Given the description of an element on the screen output the (x, y) to click on. 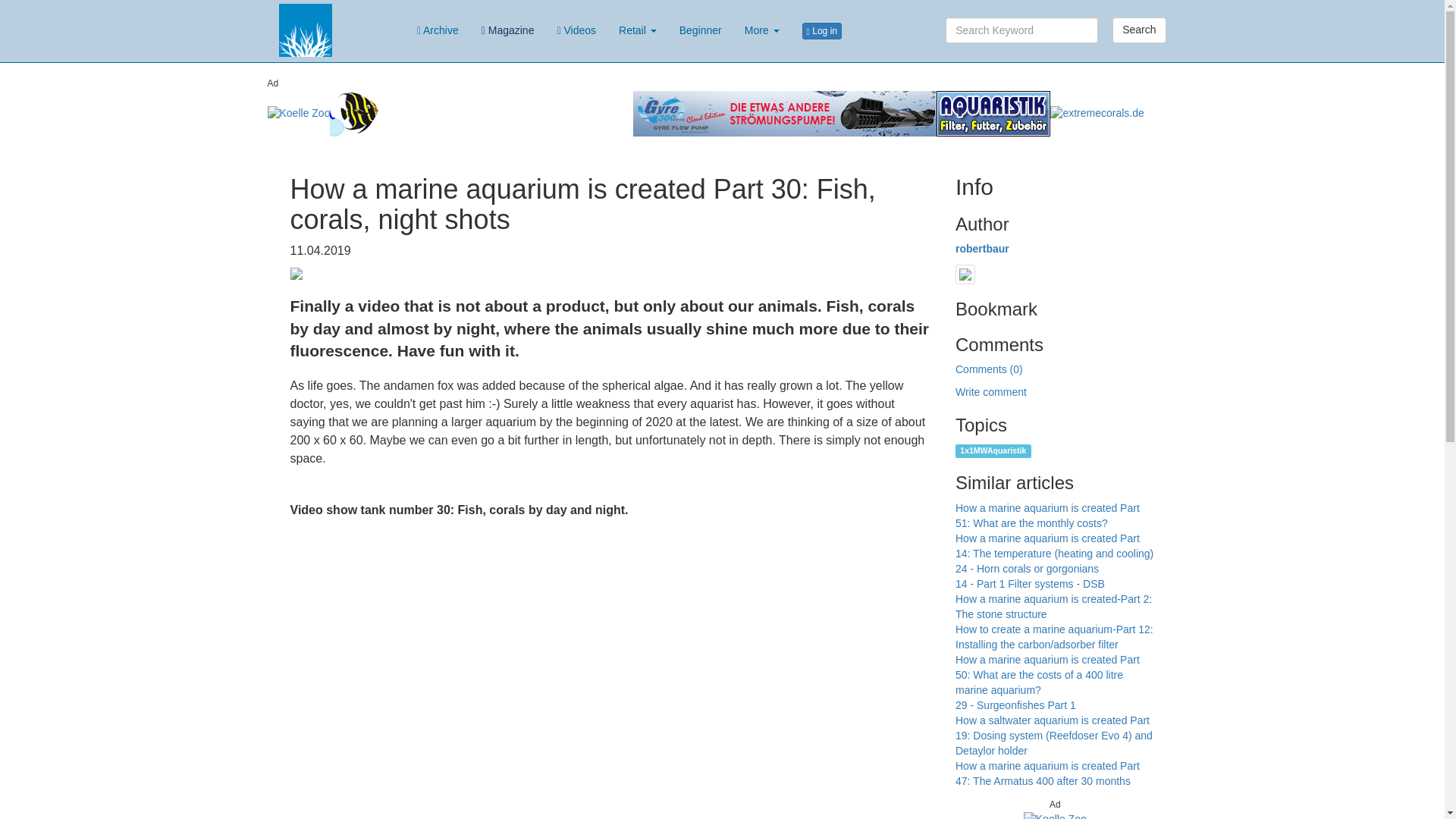
robertbaur (982, 248)
Archive (438, 30)
Log in (821, 30)
Write comment (990, 391)
Retail (637, 30)
Beginner (700, 30)
24 - Horn corals or gorgonians (1027, 568)
Videos (575, 30)
Search (1139, 30)
Magazine (508, 30)
More (761, 30)
14 - Part 1 Filter systems - DSB (1030, 583)
How a marine aquarium is created-Part 2: The stone structure (1053, 605)
1x1MWAquaristik (992, 450)
